Given the description of an element on the screen output the (x, y) to click on. 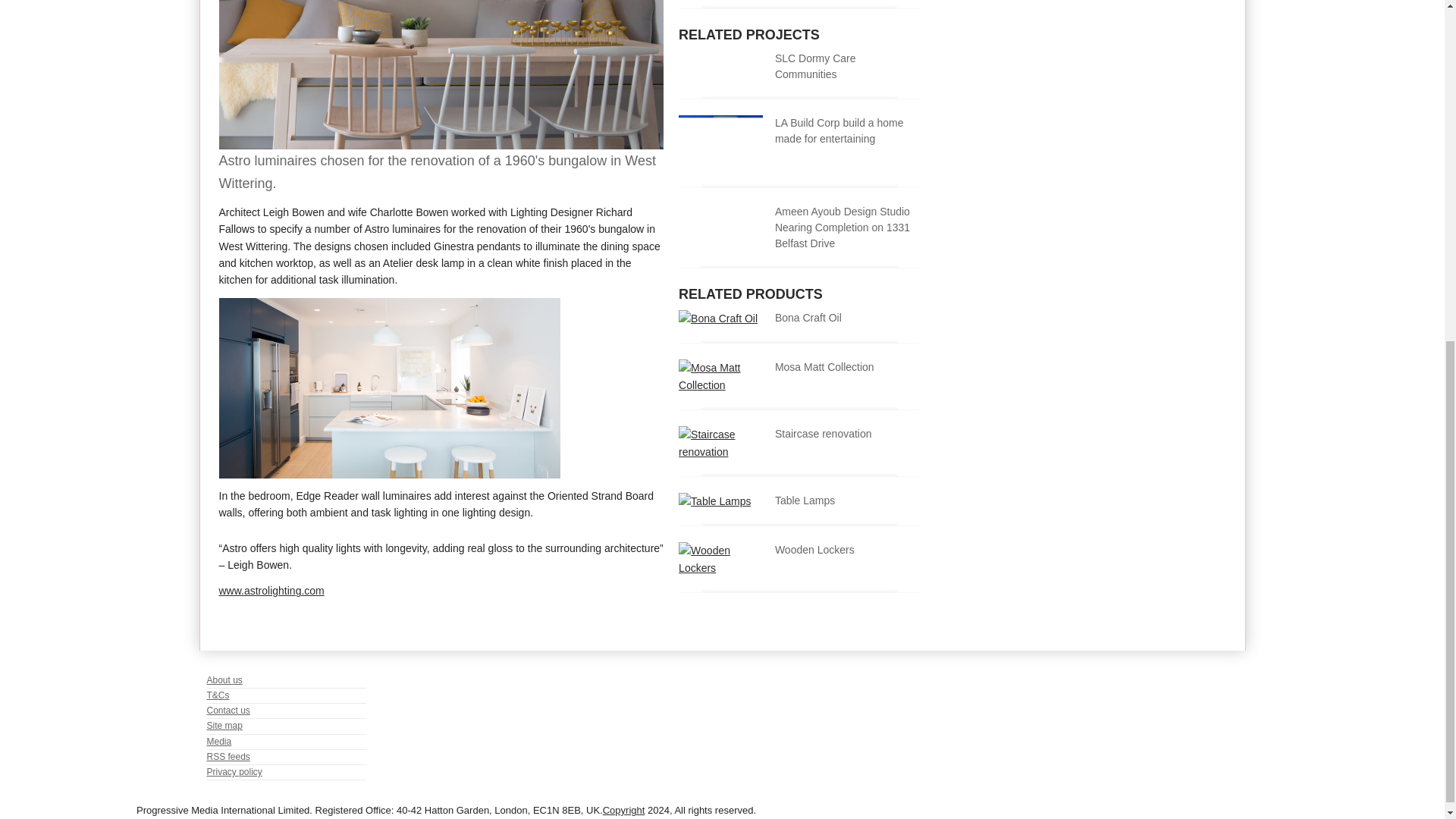
West Wittering, England (440, 145)
